Given the description of an element on the screen output the (x, y) to click on. 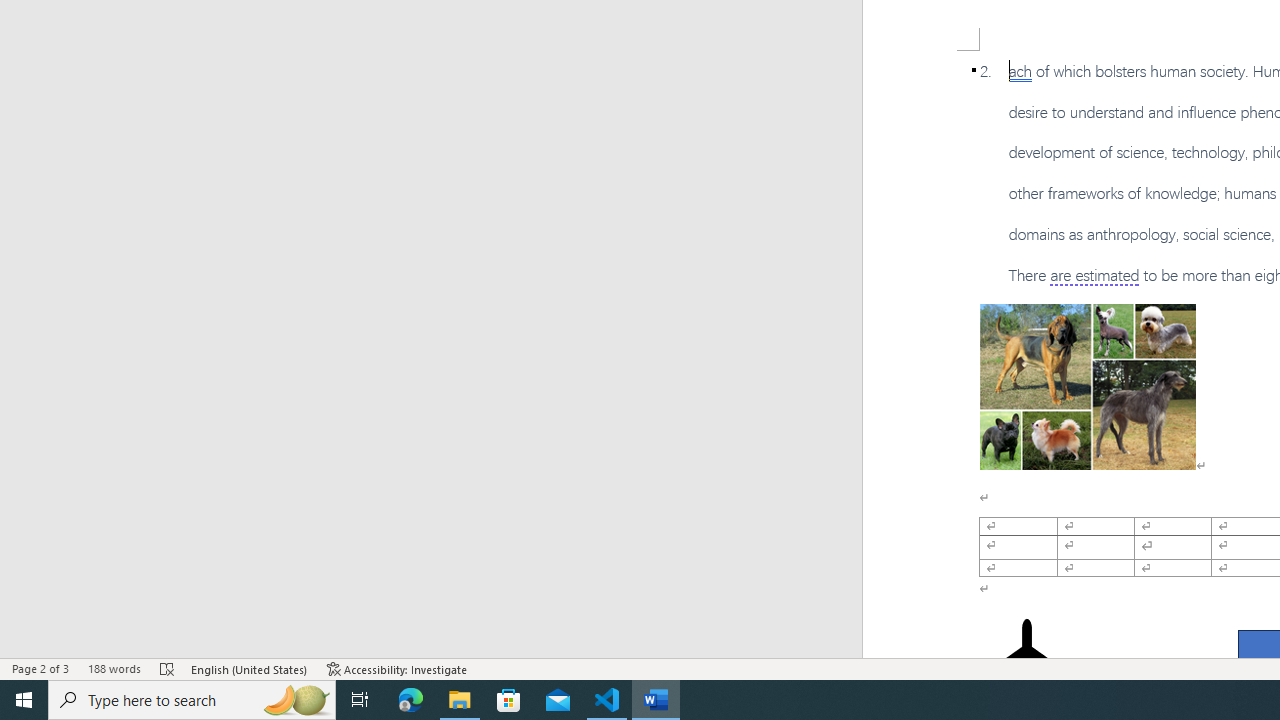
Page Number Page 2 of 3 (39, 668)
Accessibility Checker Accessibility: Investigate (397, 668)
Spelling and Grammar Check Errors (168, 668)
Airplane with solid fill (1026, 657)
Language English (United States) (250, 668)
Morphological variation in six dogs (1087, 386)
